Given the description of an element on the screen output the (x, y) to click on. 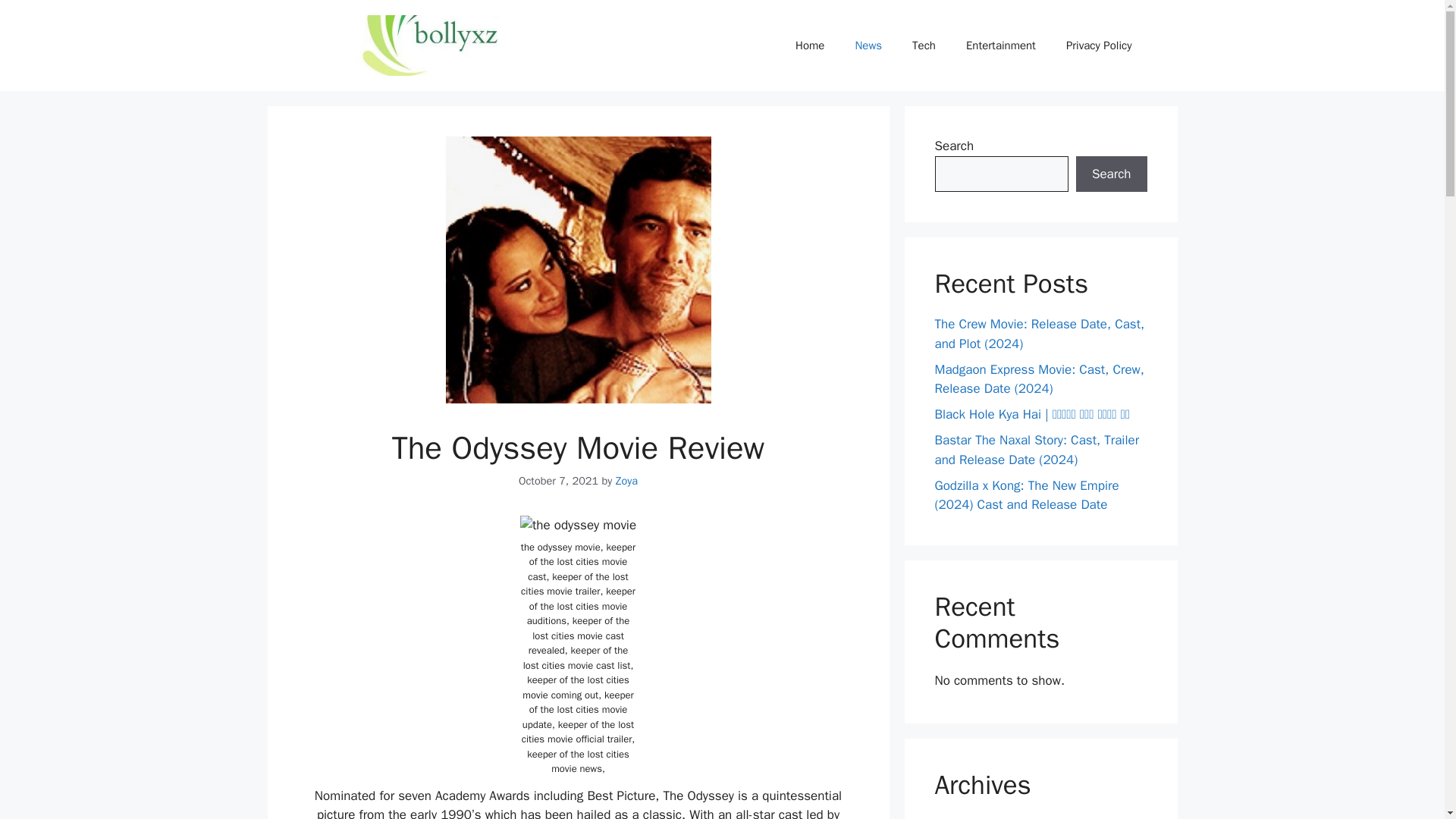
The Odyssey Movie Review 2 (577, 525)
Privacy Policy (1099, 44)
View all posts by Zoya (626, 480)
News (868, 44)
Search (1111, 174)
Zoya (626, 480)
Tech (923, 44)
The Odyssey Movie Review 1 (578, 269)
July 2024 (962, 818)
Entertainment (1000, 44)
Home (810, 44)
